Given the description of an element on the screen output the (x, y) to click on. 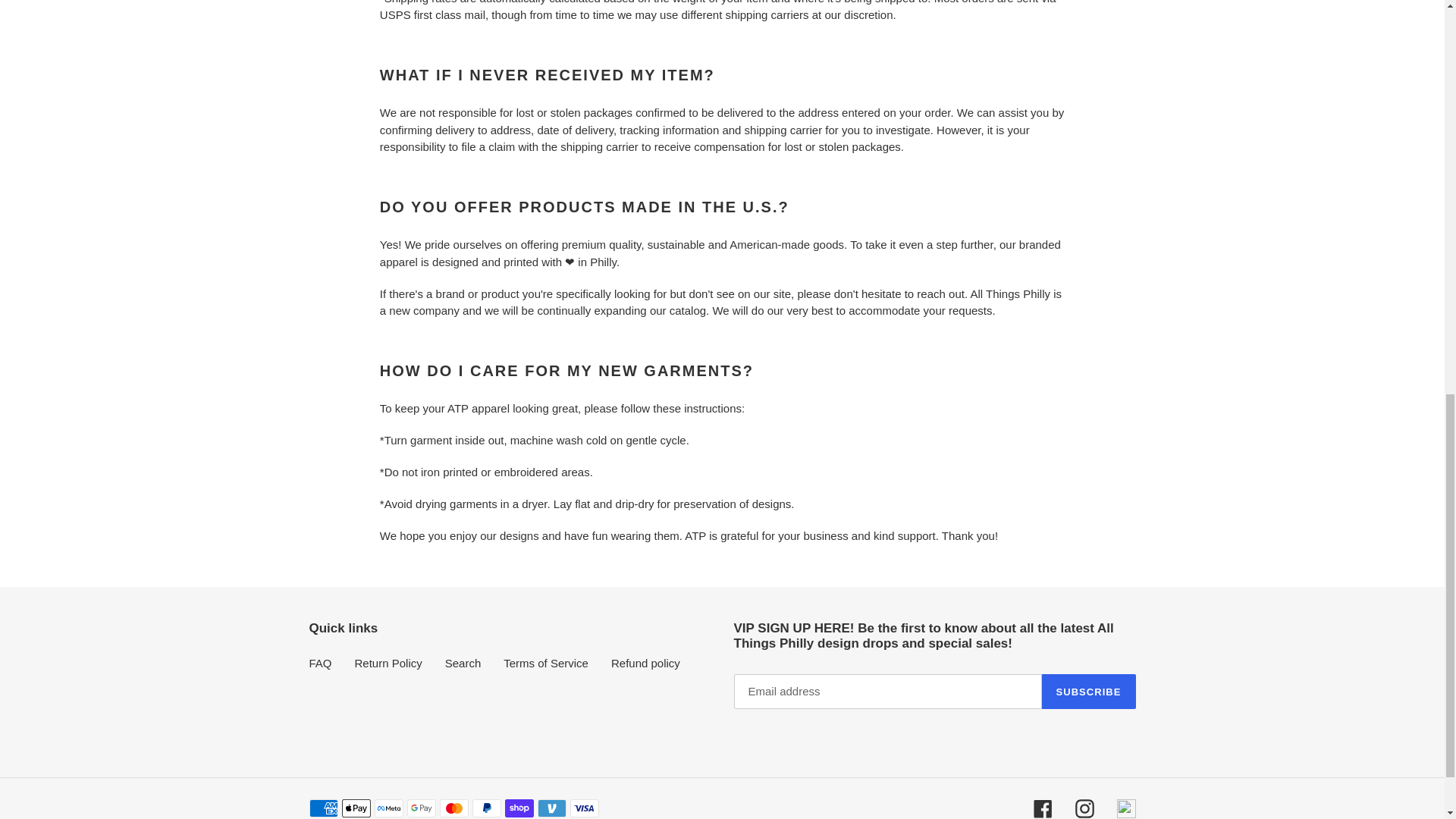
Facebook (1041, 808)
Terms of Service (545, 662)
Return Policy (388, 662)
Instagram (1084, 808)
SUBSCRIBE (1088, 691)
Refund policy (645, 662)
FAQ (319, 662)
Search (463, 662)
